Given the description of an element on the screen output the (x, y) to click on. 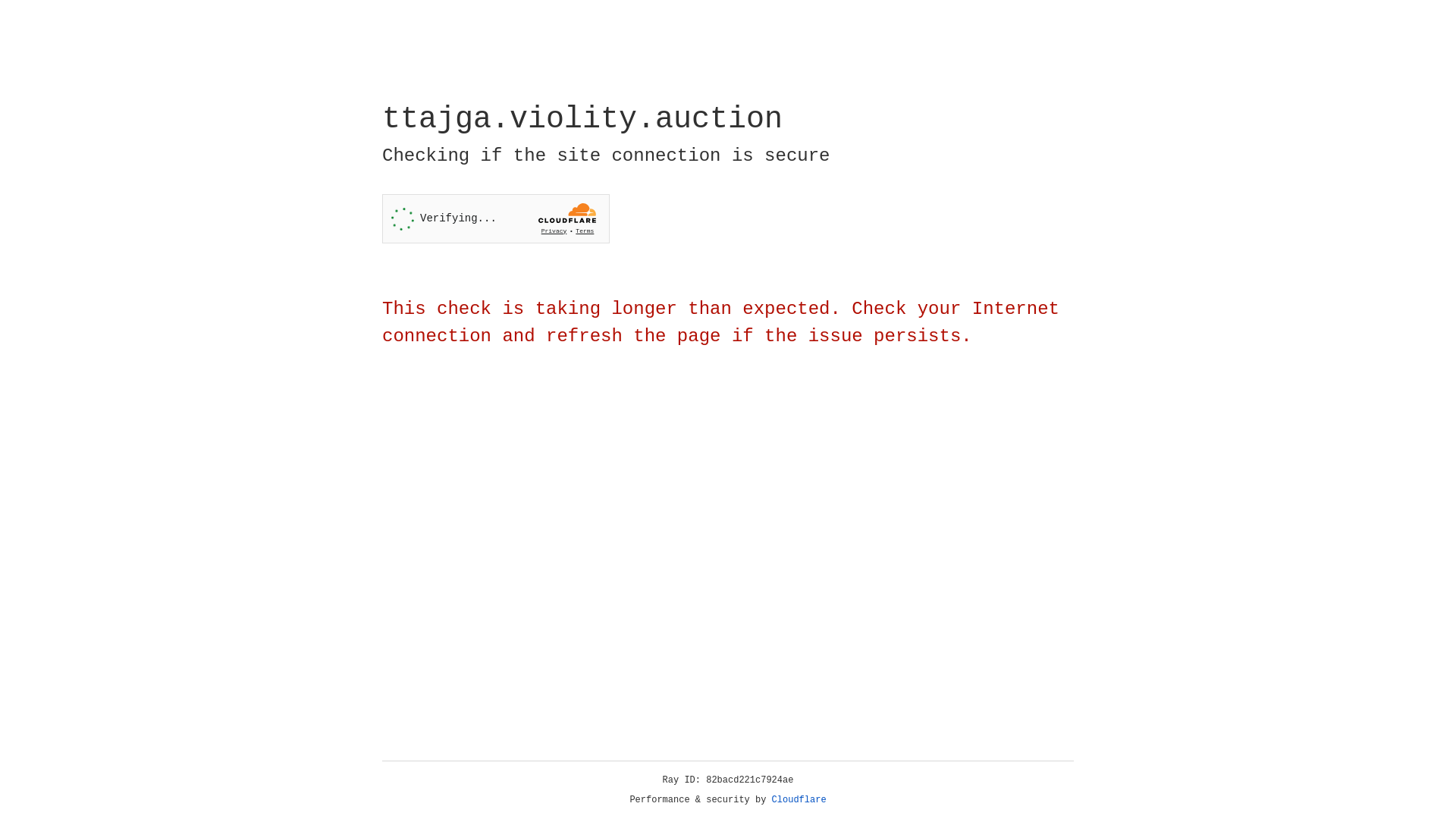
Cloudflare Element type: text (798, 799)
Widget containing a Cloudflare security challenge Element type: hover (495, 218)
